Given the description of an element on the screen output the (x, y) to click on. 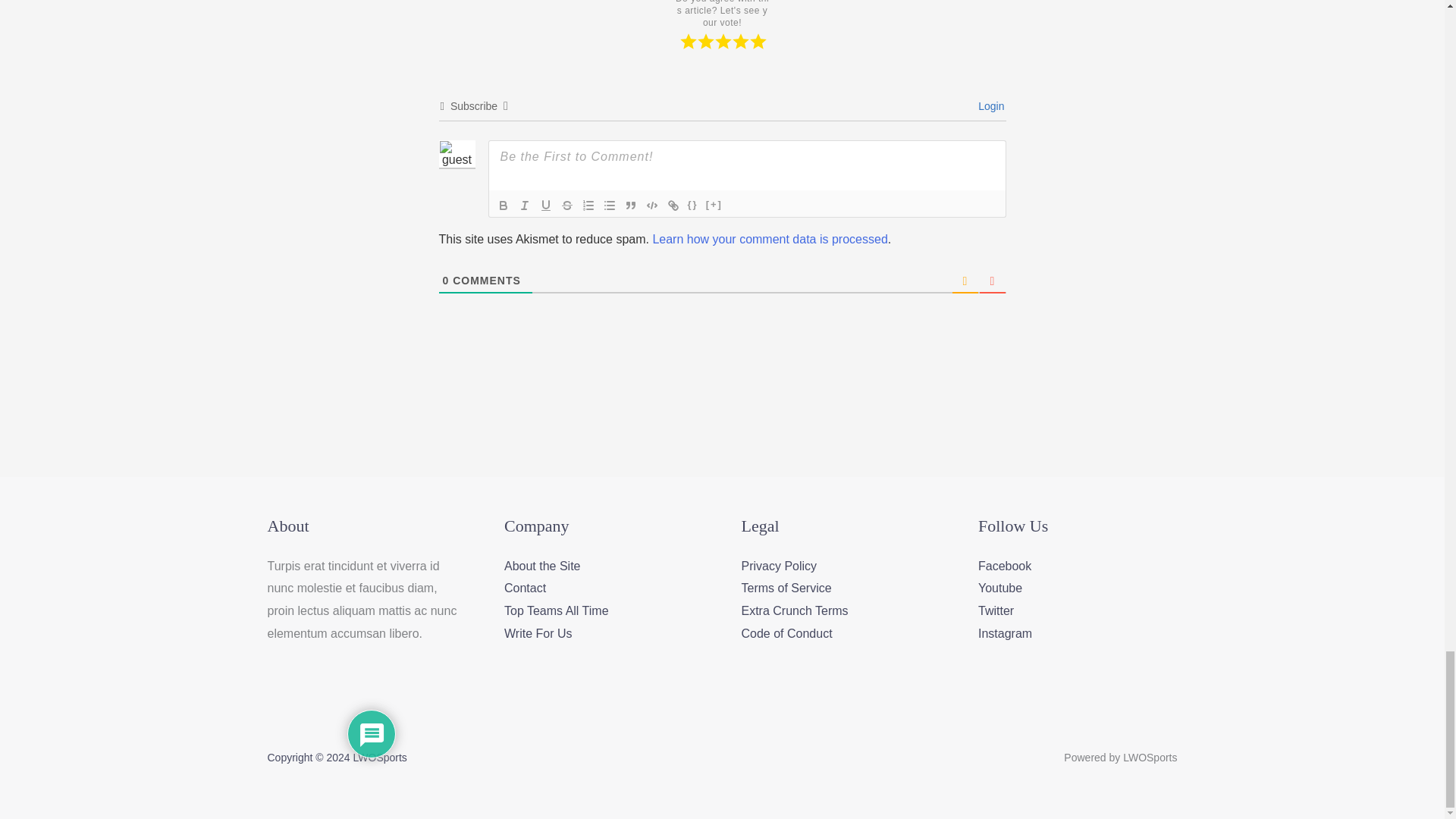
Strike (567, 205)
Blockquote (631, 205)
Bold (503, 205)
Underline (545, 205)
Unordered List (609, 205)
Ordered List (588, 205)
Source Code (692, 205)
Spoiler (713, 205)
Code Block (652, 205)
Italic (524, 205)
Link (673, 205)
